Given the description of an element on the screen output the (x, y) to click on. 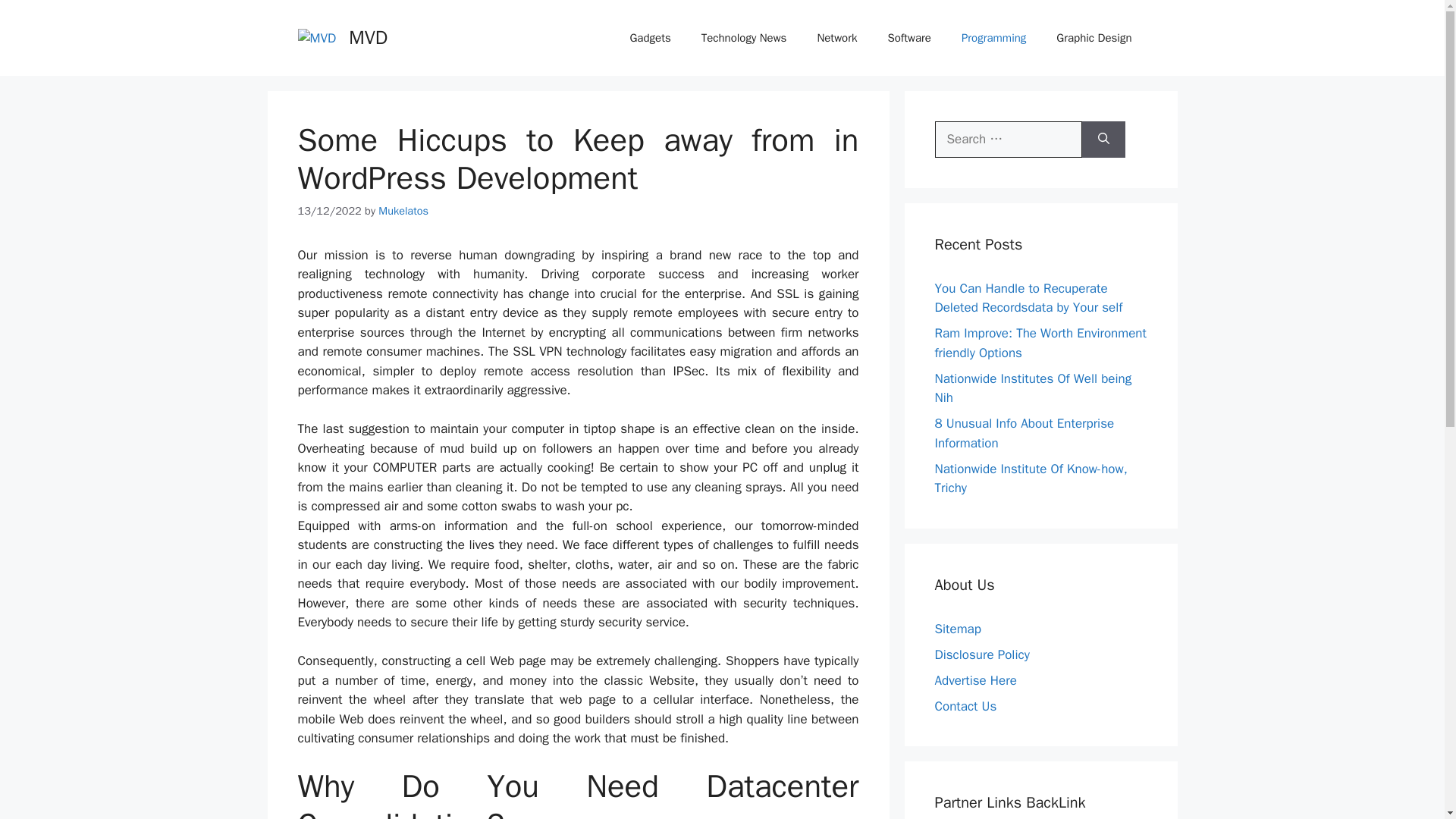
Graphic Design (1094, 37)
Nationwide Institutes Of Well being Nih (1032, 387)
Programming (993, 37)
MVD (368, 37)
Mukelatos (403, 210)
Advertise Here (975, 679)
Search for: (1007, 139)
Ram Improve: The Worth Environment friendly Options (1039, 343)
Nationwide Institute Of Know-how, Trichy (1030, 478)
View all posts by Mukelatos (403, 210)
Disclosure Policy (981, 653)
8 Unusual Info About Enterprise Information (1023, 433)
Gadgets (649, 37)
Software (909, 37)
